Given the description of an element on the screen output the (x, y) to click on. 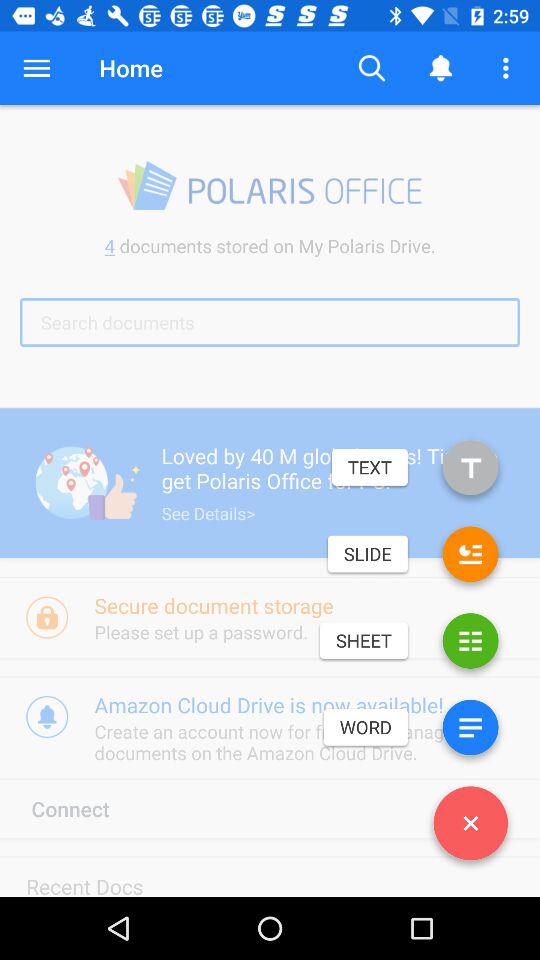
open new text documents (470, 471)
